Given the description of an element on the screen output the (x, y) to click on. 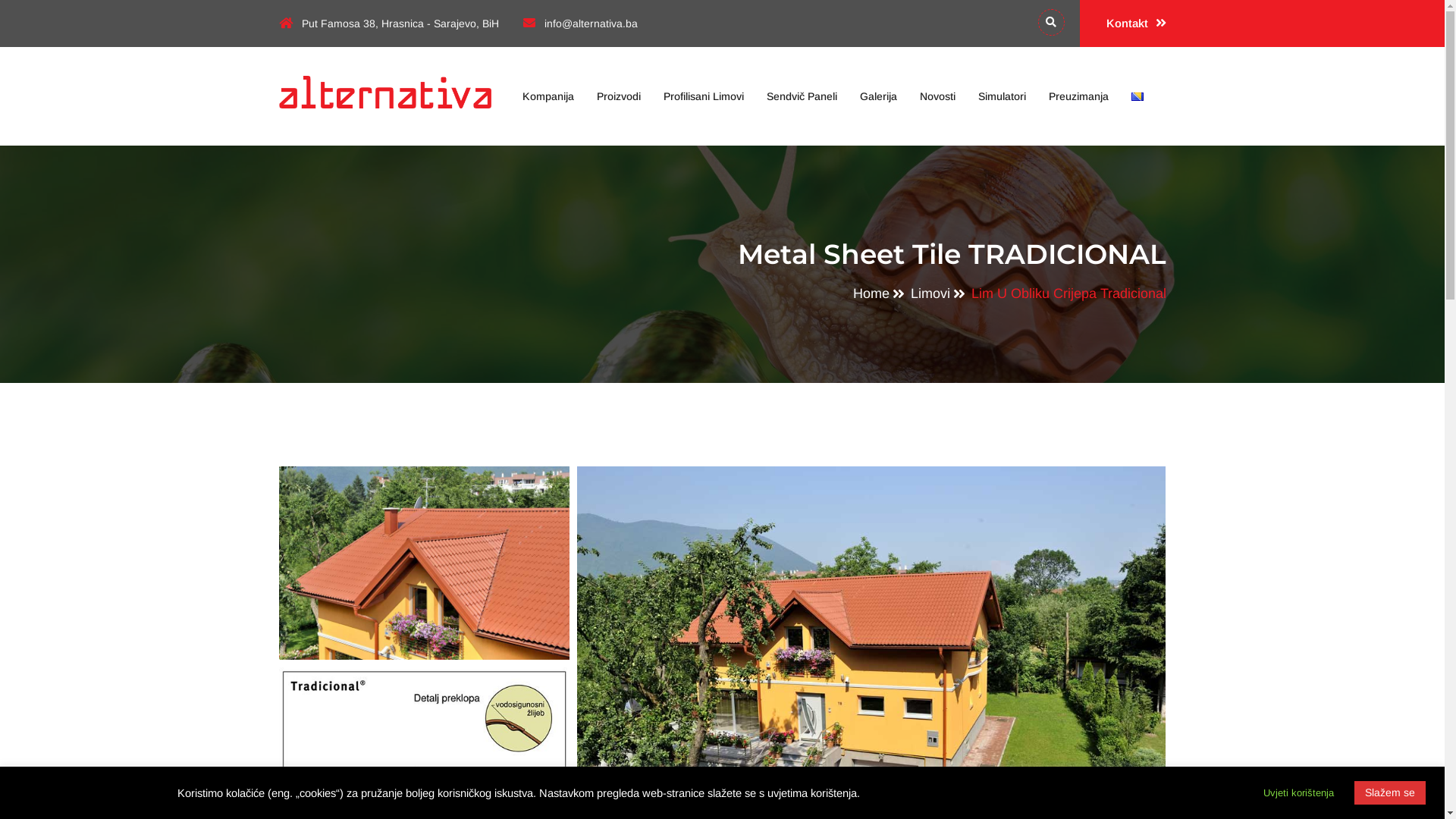
Limovi Element type: text (929, 292)
Preuzimanja Element type: text (1077, 96)
Novosti Element type: text (936, 96)
Put Famosa 38, Hrasnica - Sarajevo, BiH Element type: text (388, 23)
Kontakt Element type: text (1122, 23)
info@alternativa.ba Element type: text (580, 23)
Kompanija Element type: text (547, 96)
Galerija Element type: text (878, 96)
Simulatori Element type: text (1002, 96)
Proizvodi Element type: text (618, 96)
Home Element type: text (870, 292)
Profilisani Limovi Element type: text (702, 96)
Alternativa Element type: hover (385, 92)
